Given the description of an element on the screen output the (x, y) to click on. 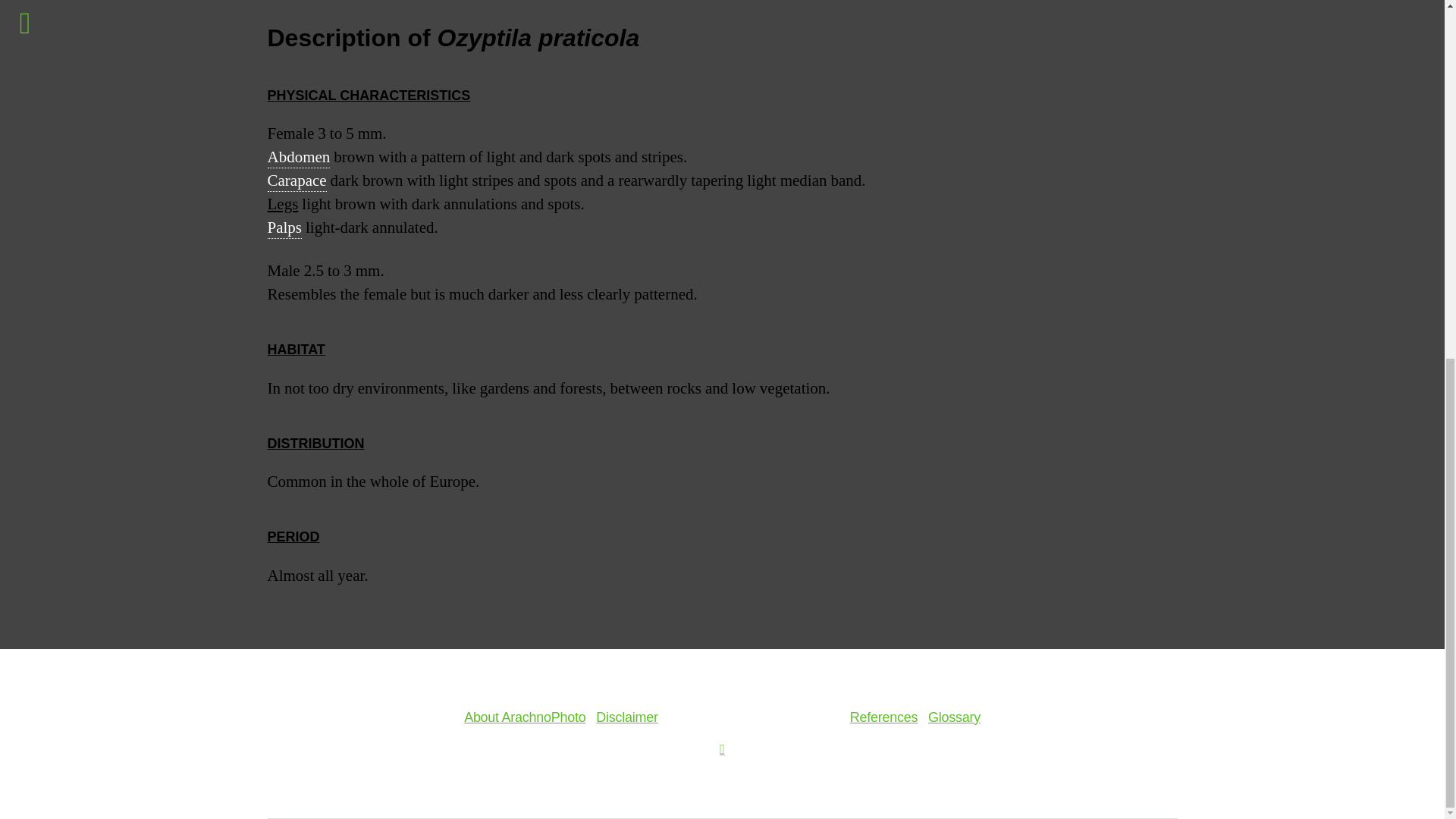
Disclaimer (626, 717)
Glossary (953, 717)
References (883, 717)
About ArachnoPhoto (524, 717)
